Given the description of an element on the screen output the (x, y) to click on. 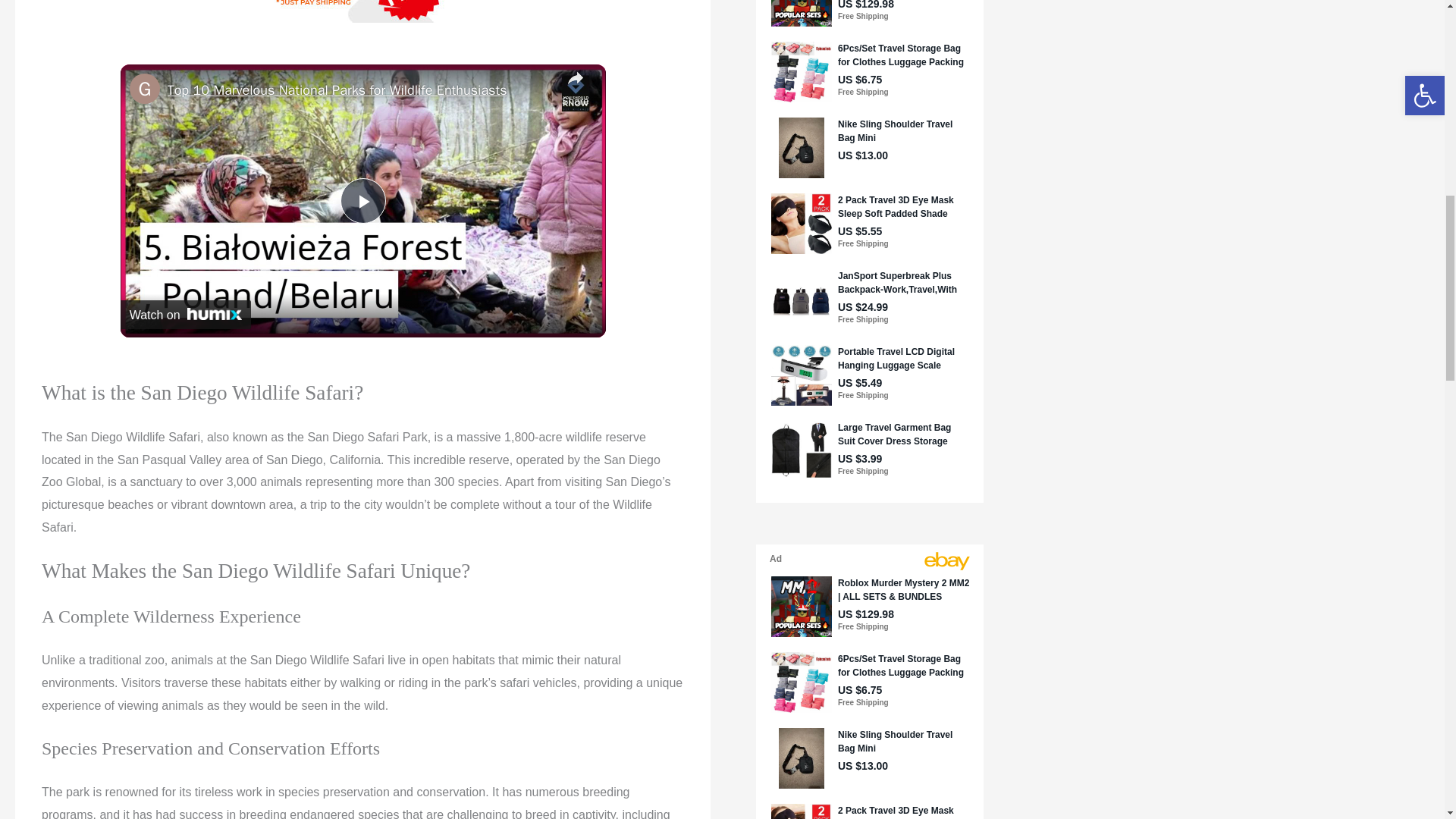
Play Video (362, 200)
